Given the description of an element on the screen output the (x, y) to click on. 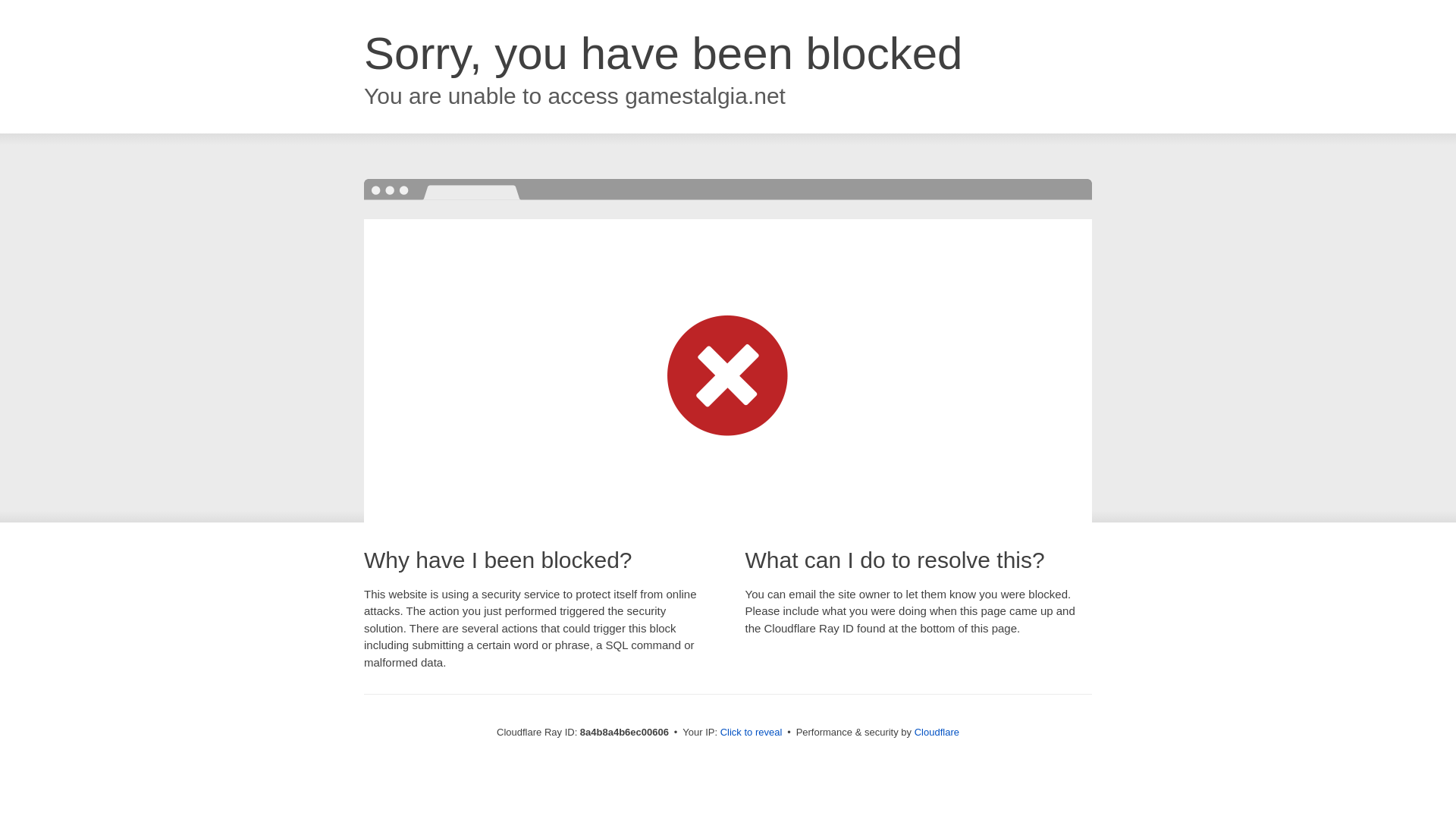
Cloudflare (936, 731)
Click to reveal (751, 732)
